Given the description of an element on the screen output the (x, y) to click on. 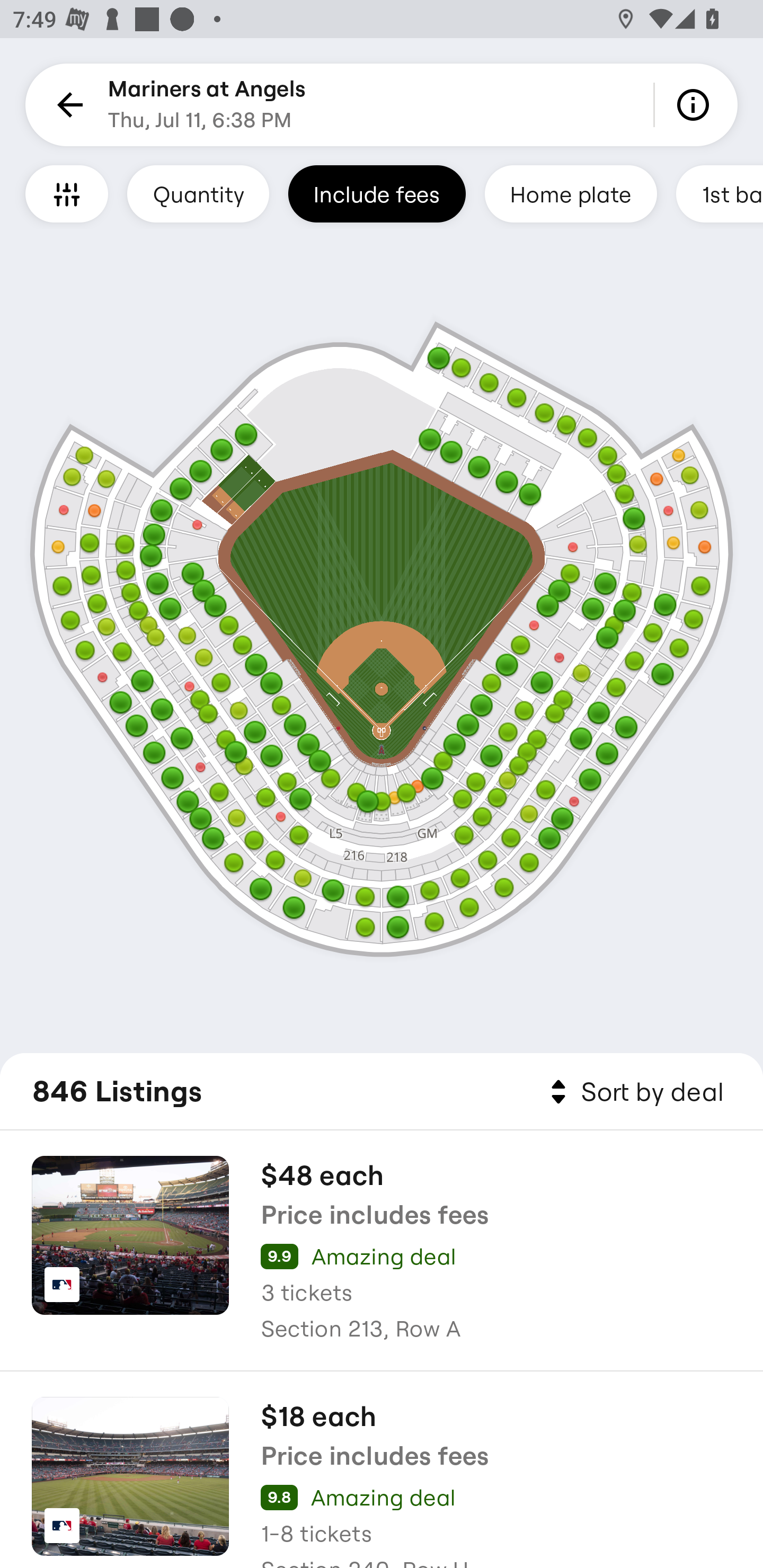
Back Mariners at Angels Thu, Jul 11, 6:38 PM Info (381, 104)
Back (66, 104)
Mariners at Angels Thu, Jul 11, 6:38 PM (206, 104)
Info (695, 104)
Filters and Accessible Seating (66, 193)
Quantity (198, 193)
Include fees (376, 193)
Home plate (570, 193)
1st baseline (719, 193)
Sort by deal (633, 1091)
